Given the description of an element on the screen output the (x, y) to click on. 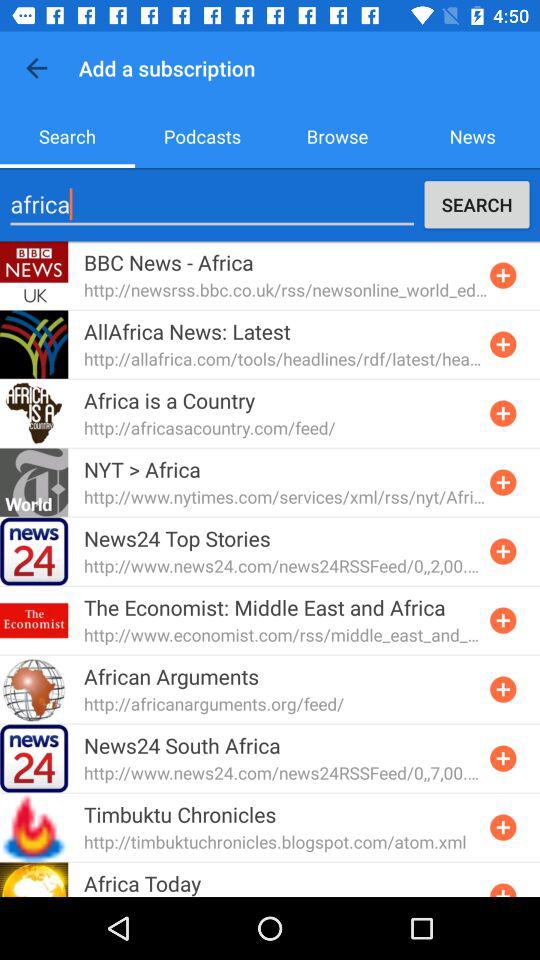
add news24 subscription (503, 758)
